Given the description of an element on the screen output the (x, y) to click on. 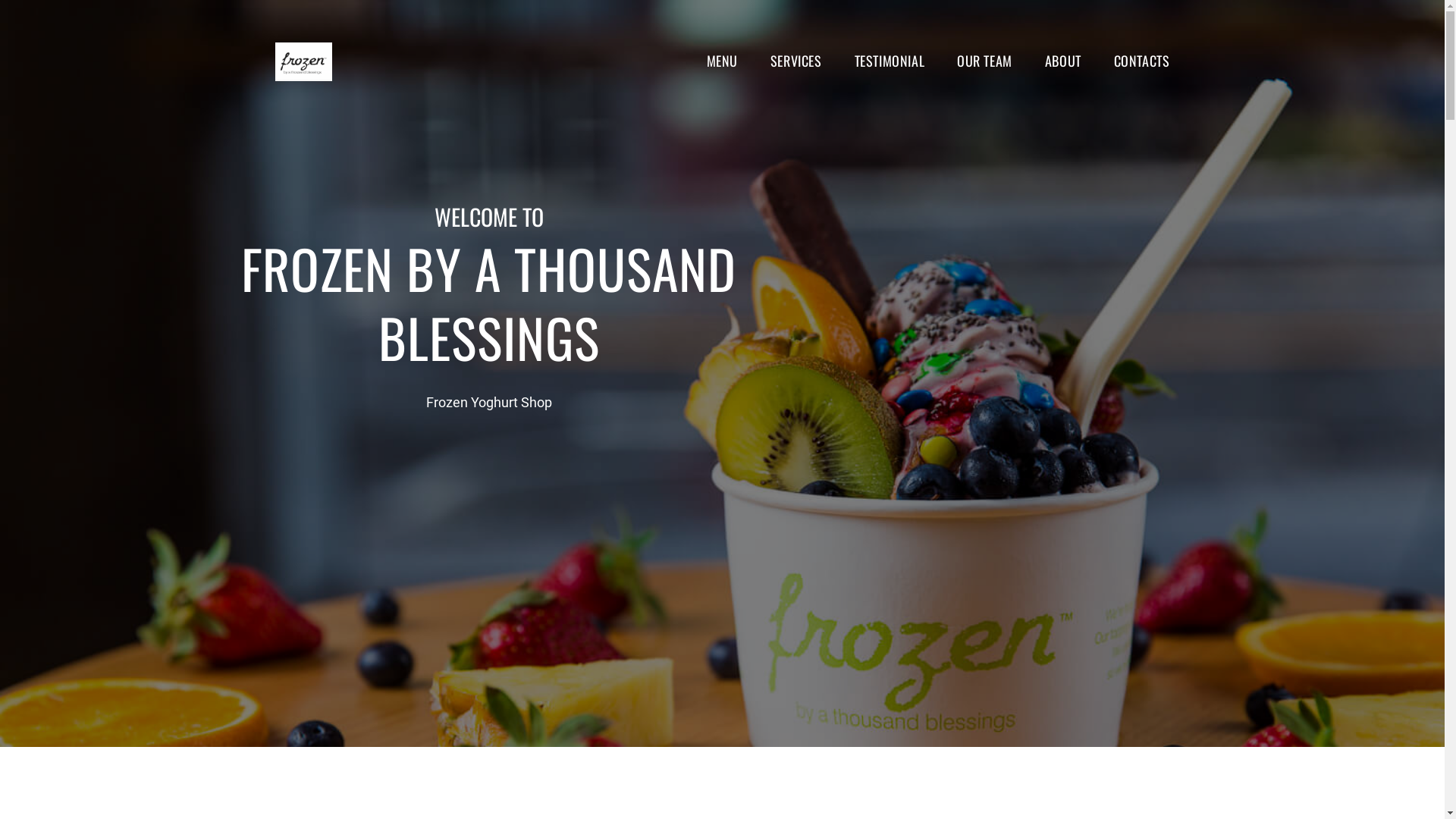
ABOUT Element type: text (1062, 61)
CONTACTS Element type: text (1141, 61)
OUR TEAM Element type: text (984, 61)
MENU Element type: text (721, 61)
TESTIMONIAL Element type: text (889, 61)
SERVICES Element type: text (796, 61)
